Given the description of an element on the screen output the (x, y) to click on. 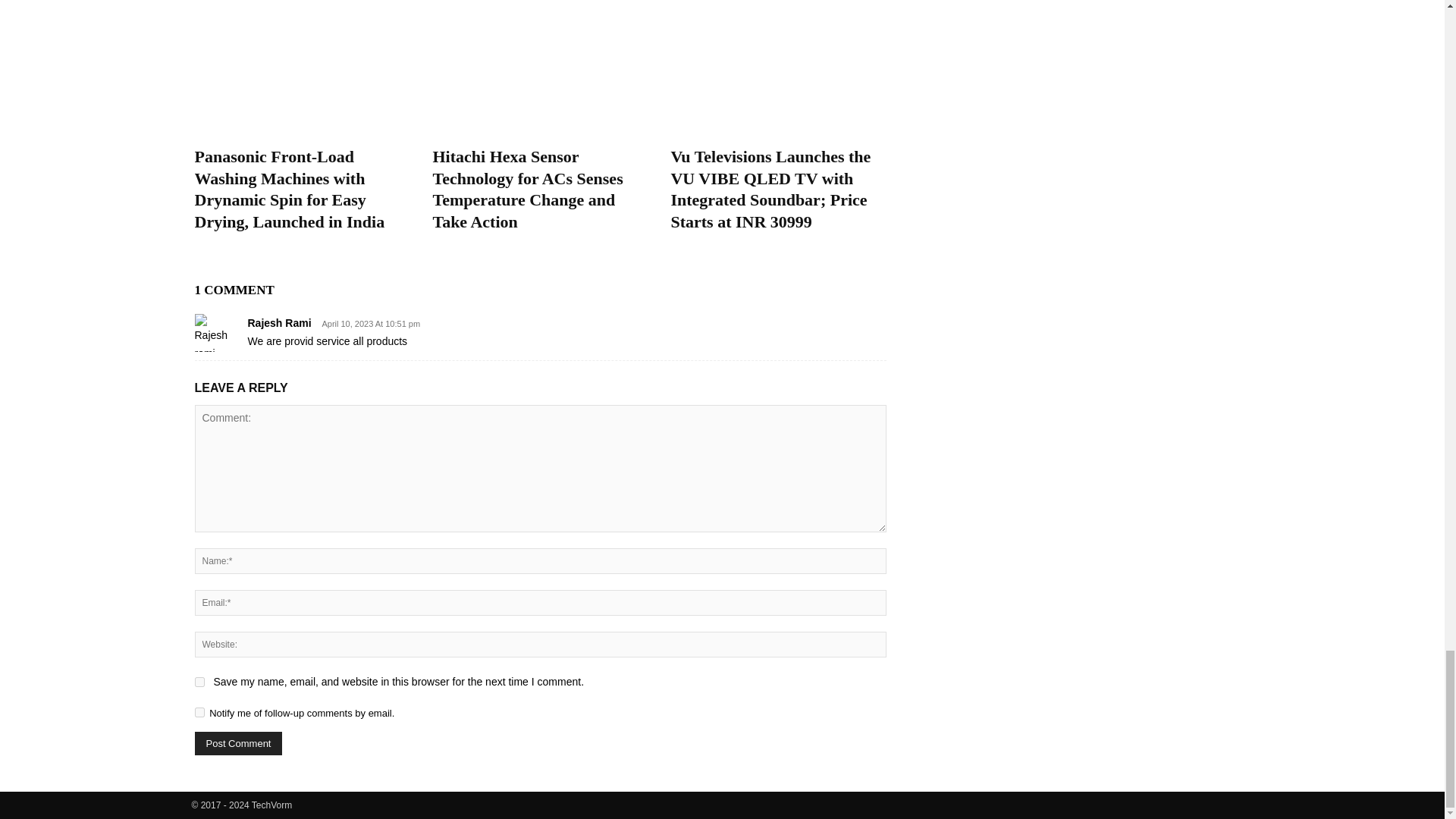
subscribe (198, 712)
Post Comment (237, 743)
yes (198, 682)
